Given the description of an element on the screen output the (x, y) to click on. 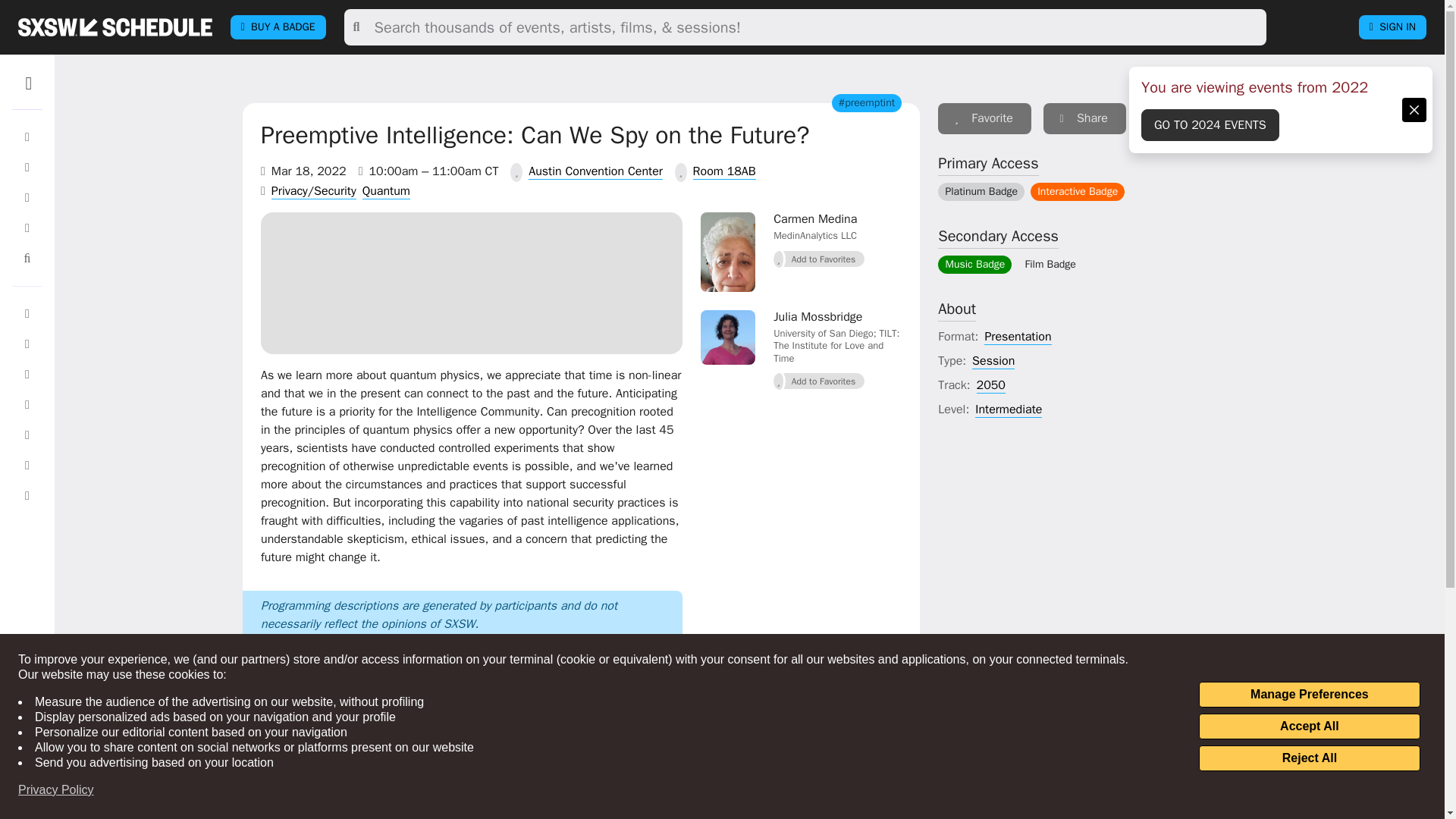
Reject All (1309, 758)
sxsw SCHEDULE (114, 27)
Sign In to add to your favorites. (818, 381)
BUY A BADGE (278, 27)
Sign In to add to your favorites. (818, 259)
Accept All (1309, 726)
GO TO 2024 EVENTS (1210, 124)
Sign In to add to your favorites. (983, 118)
Privacy Policy (55, 789)
